Given the description of an element on the screen output the (x, y) to click on. 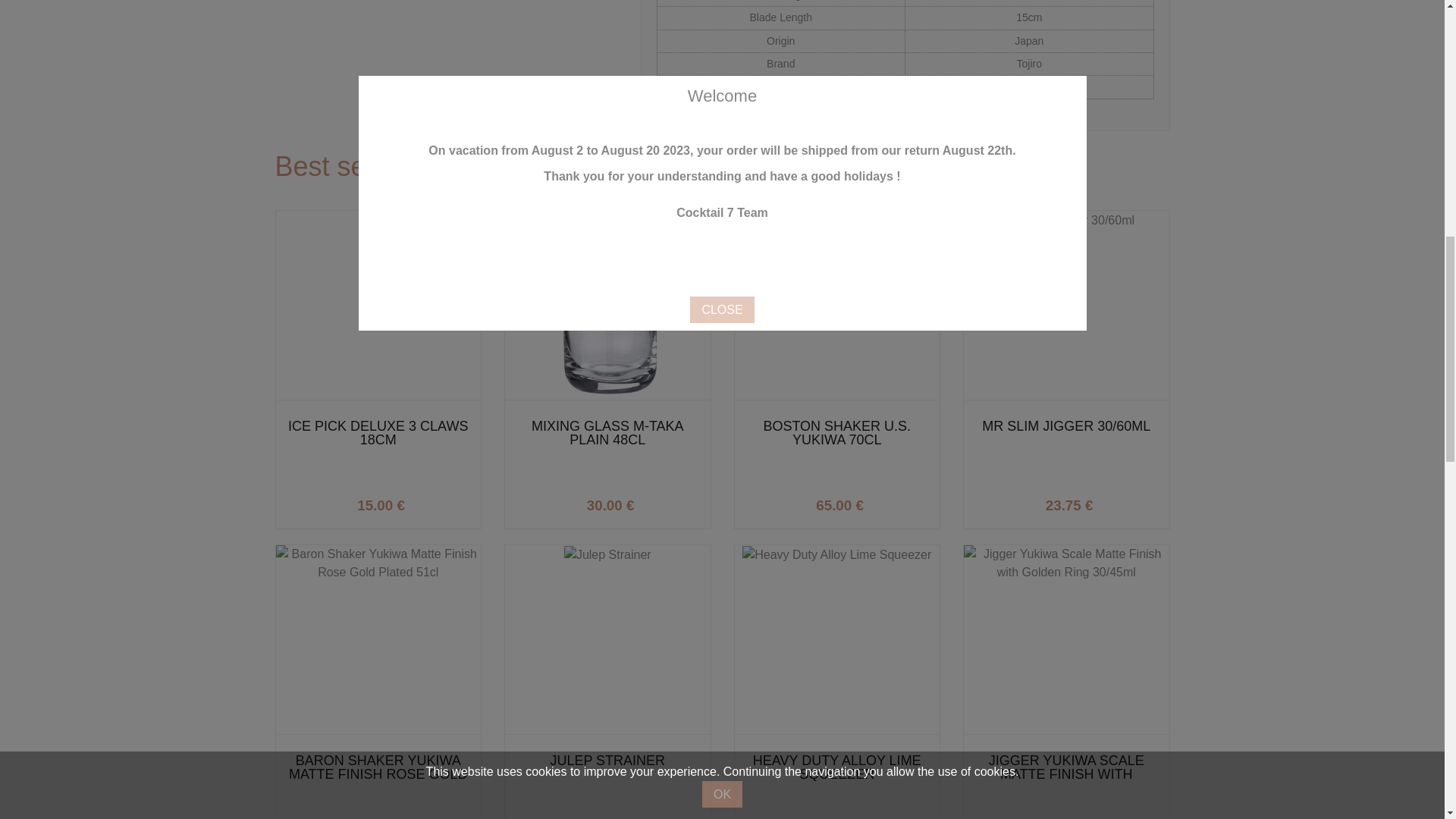
More info (424, 501)
Add to cart (424, 501)
More info (1111, 501)
Add to cart (1111, 501)
More info (653, 501)
More info (882, 501)
Add to cart (882, 501)
